Given the description of an element on the screen output the (x, y) to click on. 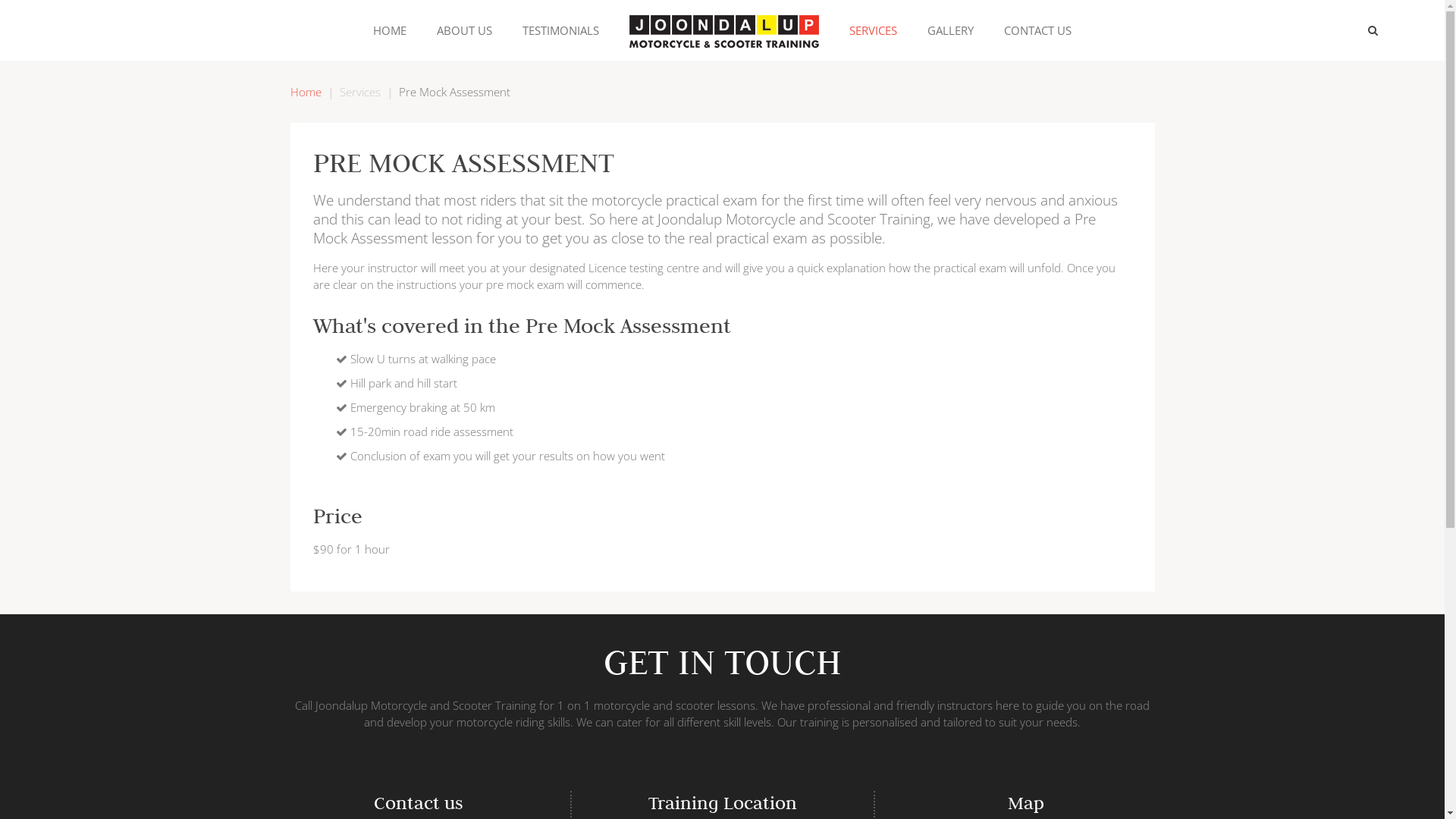
CONTACT US Element type: text (1037, 30)
SERVICES Element type: text (873, 30)
HOME Element type: text (389, 30)
ABOUT US Element type: text (464, 30)
Home Element type: text (304, 91)
TESTIMONIALS Element type: text (560, 30)
GALLERY Element type: text (950, 30)
